Given the description of an element on the screen output the (x, y) to click on. 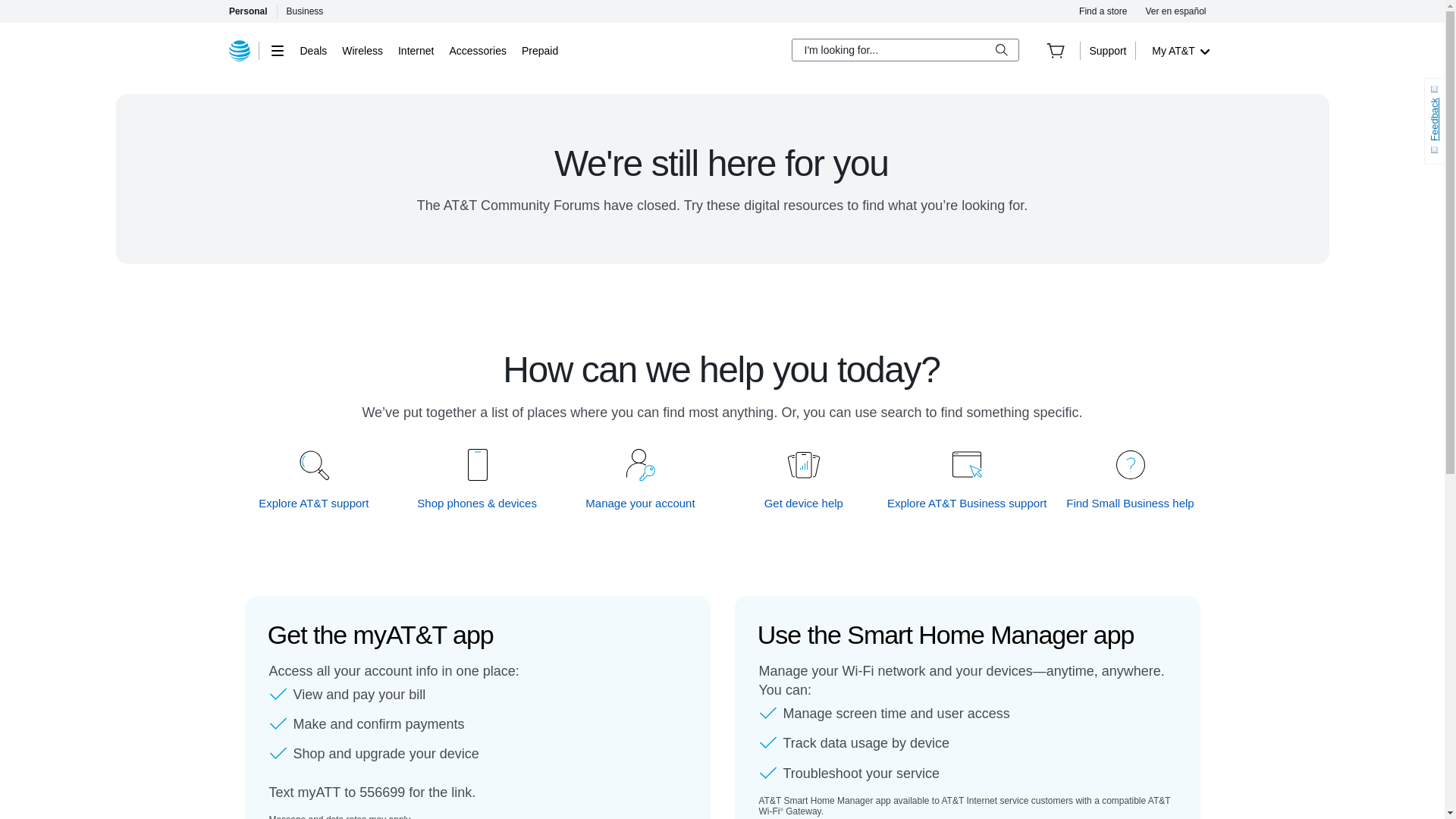
Personal (247, 10)
Find a store (1102, 10)
Get device help (803, 503)
Support (1107, 50)
Search (1000, 50)
Wireless (362, 50)
Manage your account (640, 503)
Support (1107, 50)
Prepaid (539, 50)
Accessories (476, 50)
Business (305, 10)
Internet (415, 50)
Find Small Business help (1130, 503)
